Given the description of an element on the screen output the (x, y) to click on. 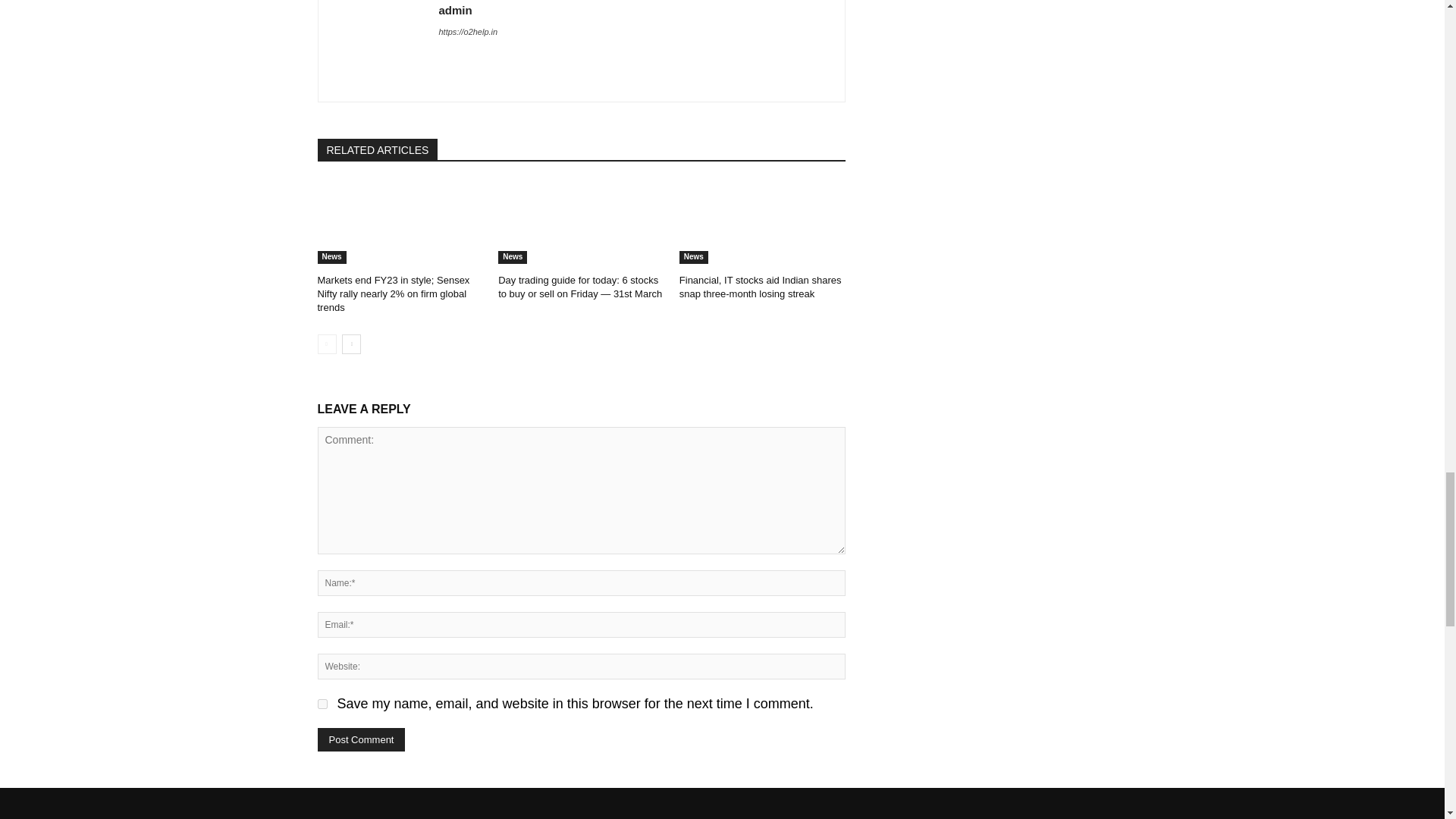
Post Comment (360, 739)
yes (321, 704)
